Given the description of an element on the screen output the (x, y) to click on. 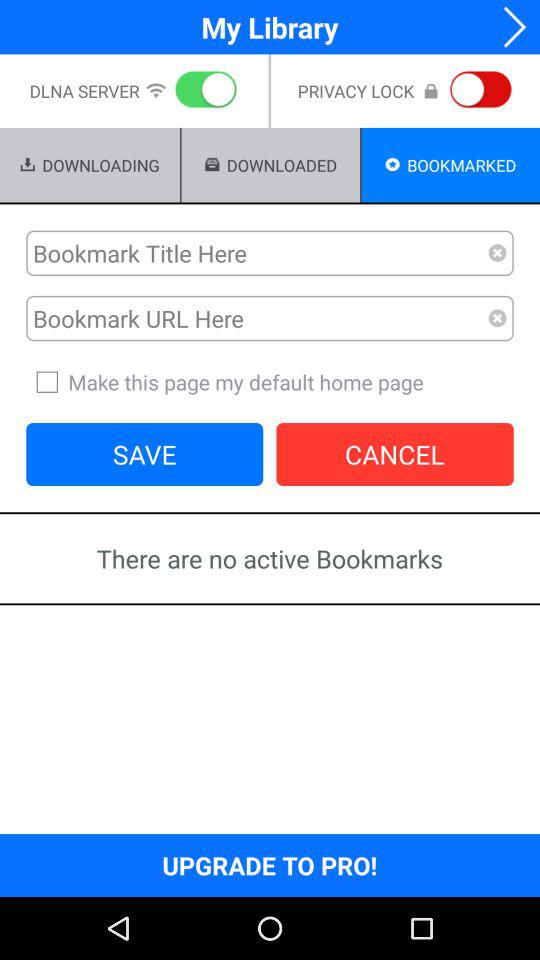
go to on (202, 91)
